Given the description of an element on the screen output the (x, y) to click on. 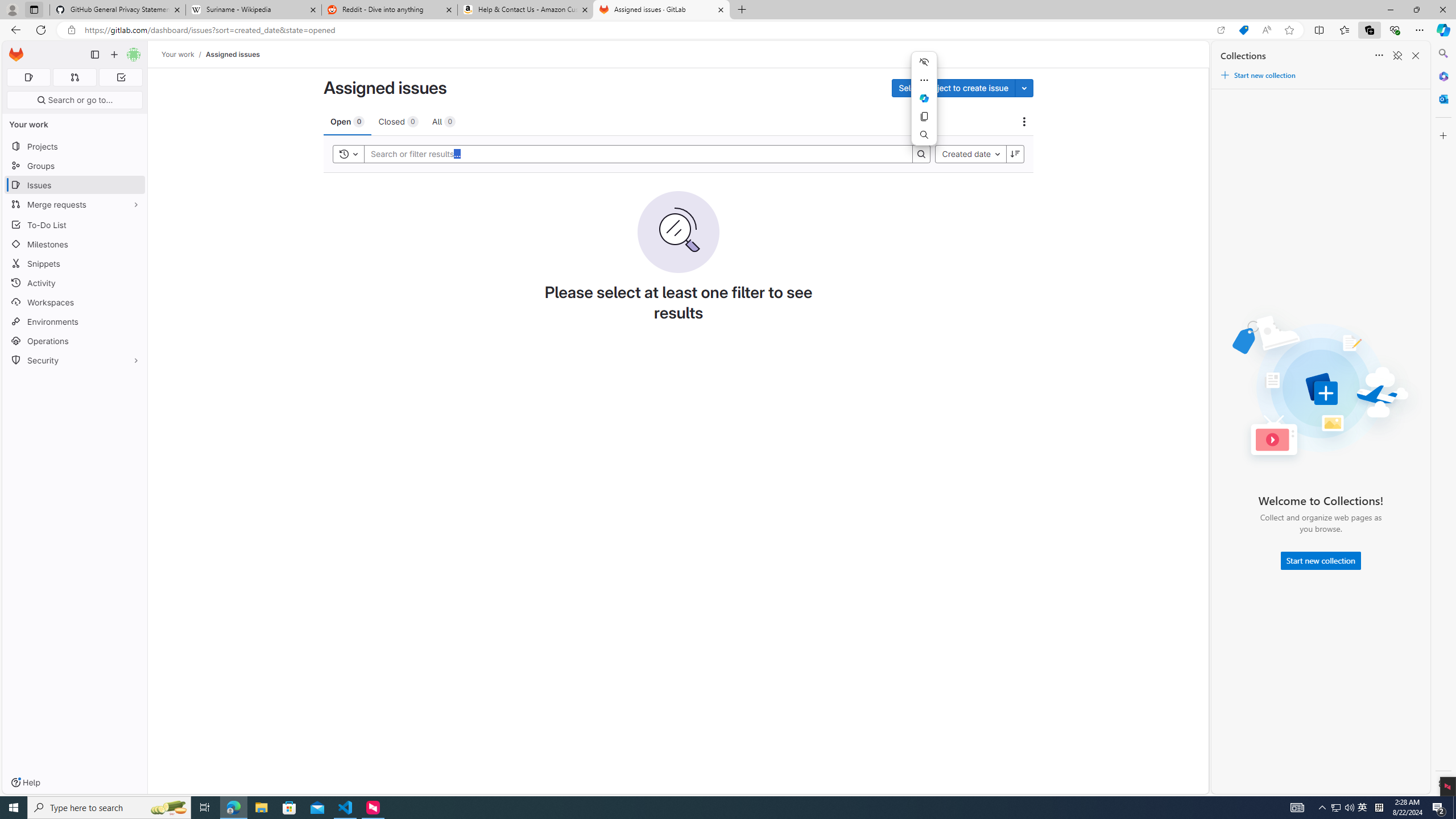
Assigned issues (232, 53)
Open in app (1220, 29)
More actions (923, 80)
Assigned issues (232, 53)
